Given the description of an element on the screen output the (x, y) to click on. 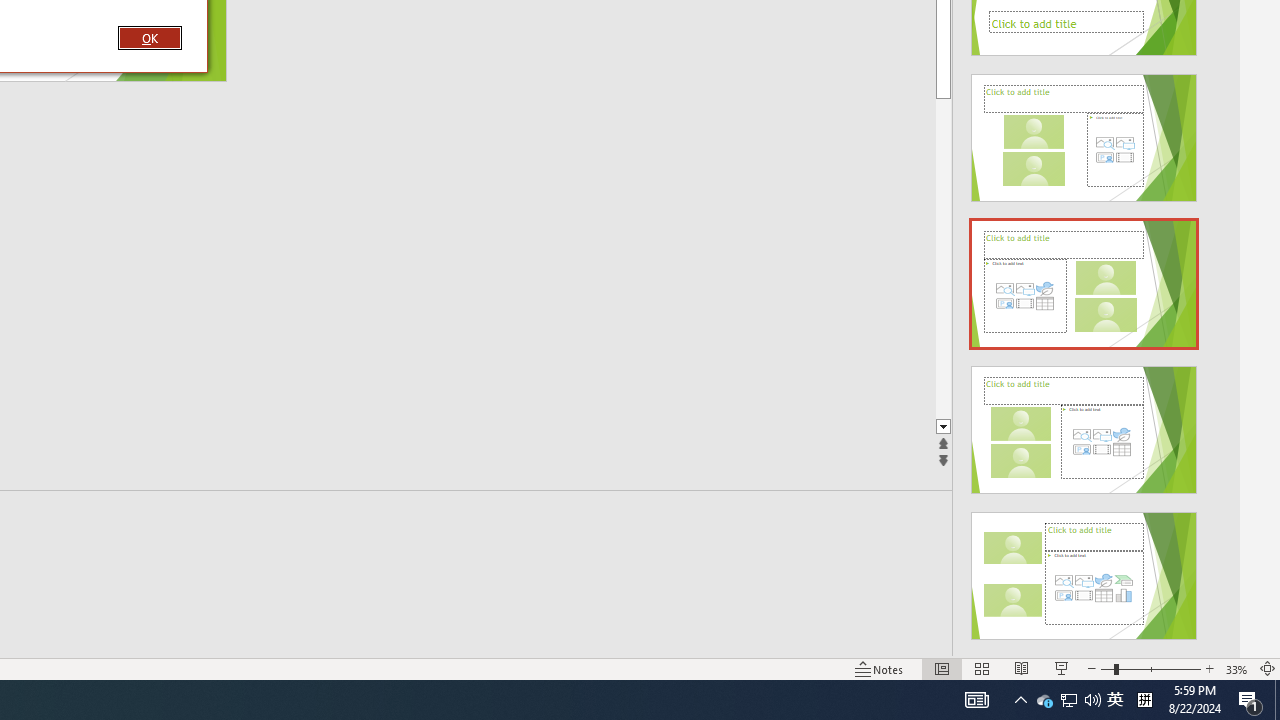
Action Center, 1 new notification (1250, 699)
IME Mode Icon - IME is disabled (1115, 699)
